Given the description of an element on the screen output the (x, y) to click on. 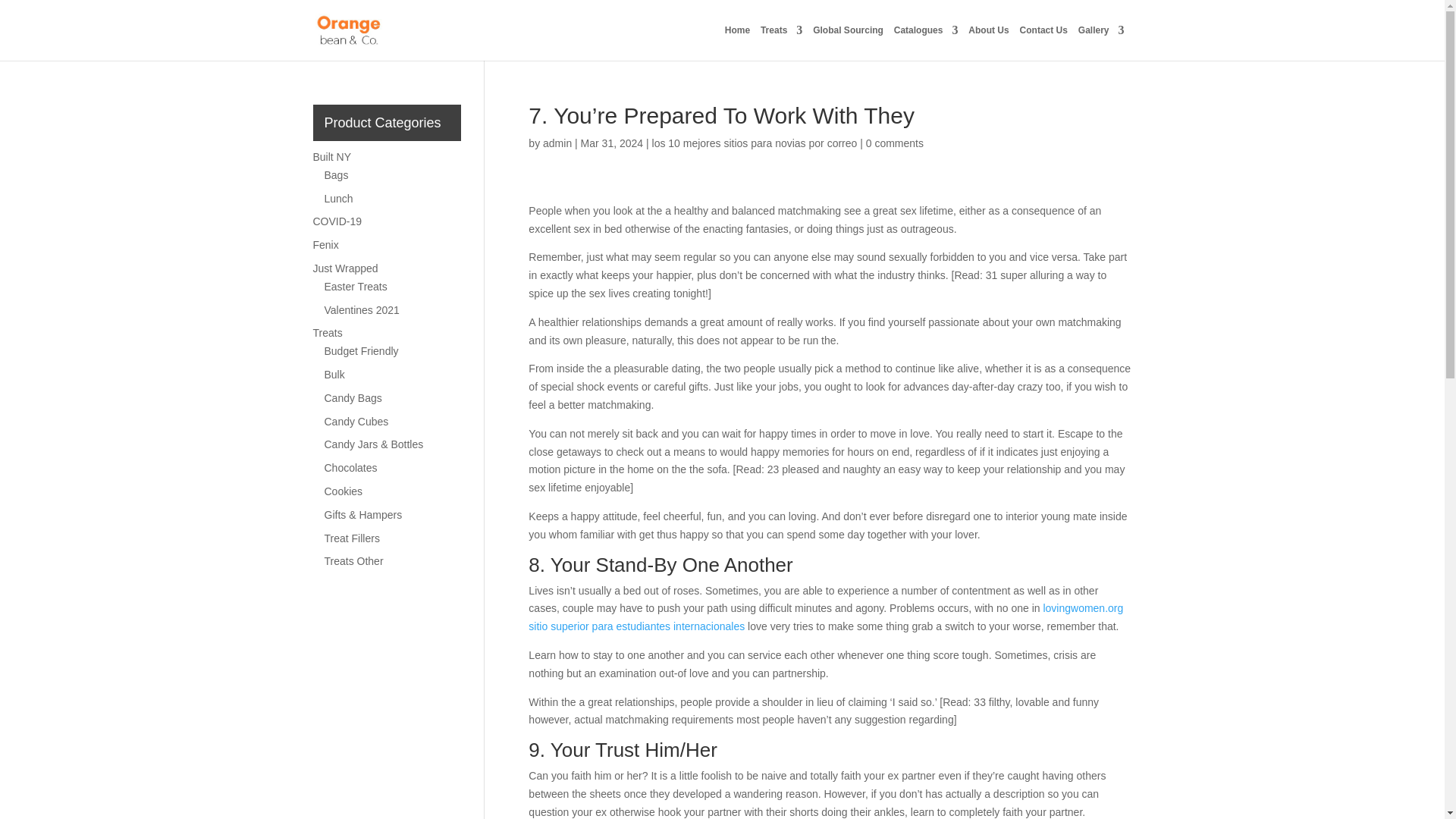
0 comments (894, 143)
Gallery (1101, 42)
Catalogues (925, 42)
Posts by admin (557, 143)
Global Sourcing (847, 42)
About Us (988, 42)
admin (557, 143)
los 10 mejores sitios para novias por correo (754, 143)
Treats (781, 42)
Contact Us (1043, 42)
